Given the description of an element on the screen output the (x, y) to click on. 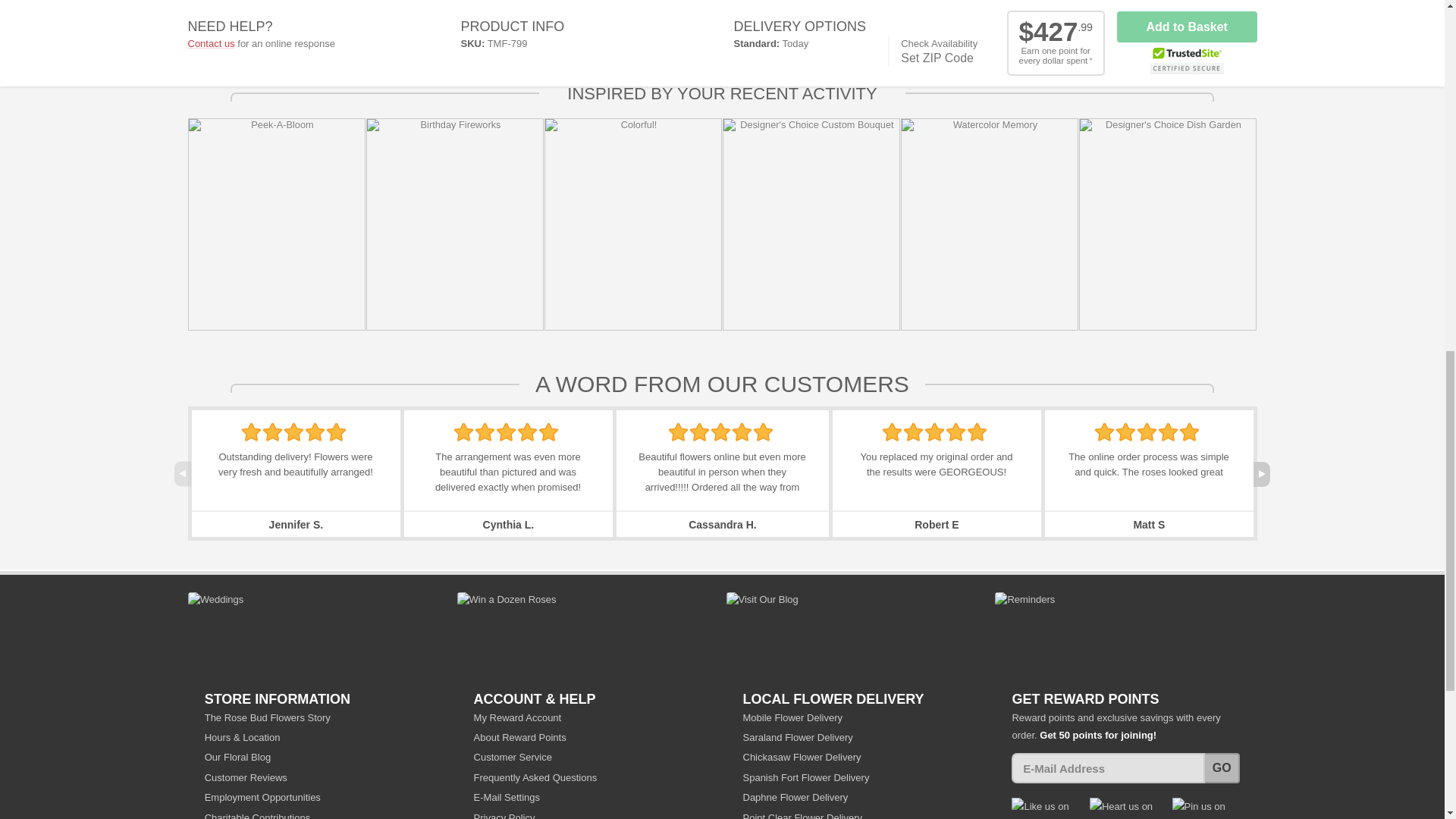
Full Star (547, 432)
Full Star (485, 432)
Full Star (314, 432)
Full Star (527, 432)
Full Star (463, 432)
Full Star (677, 432)
Full Star (505, 432)
Full Star (272, 432)
Full Star (292, 432)
Full Star (250, 432)
Full Star (336, 432)
